Given the description of an element on the screen output the (x, y) to click on. 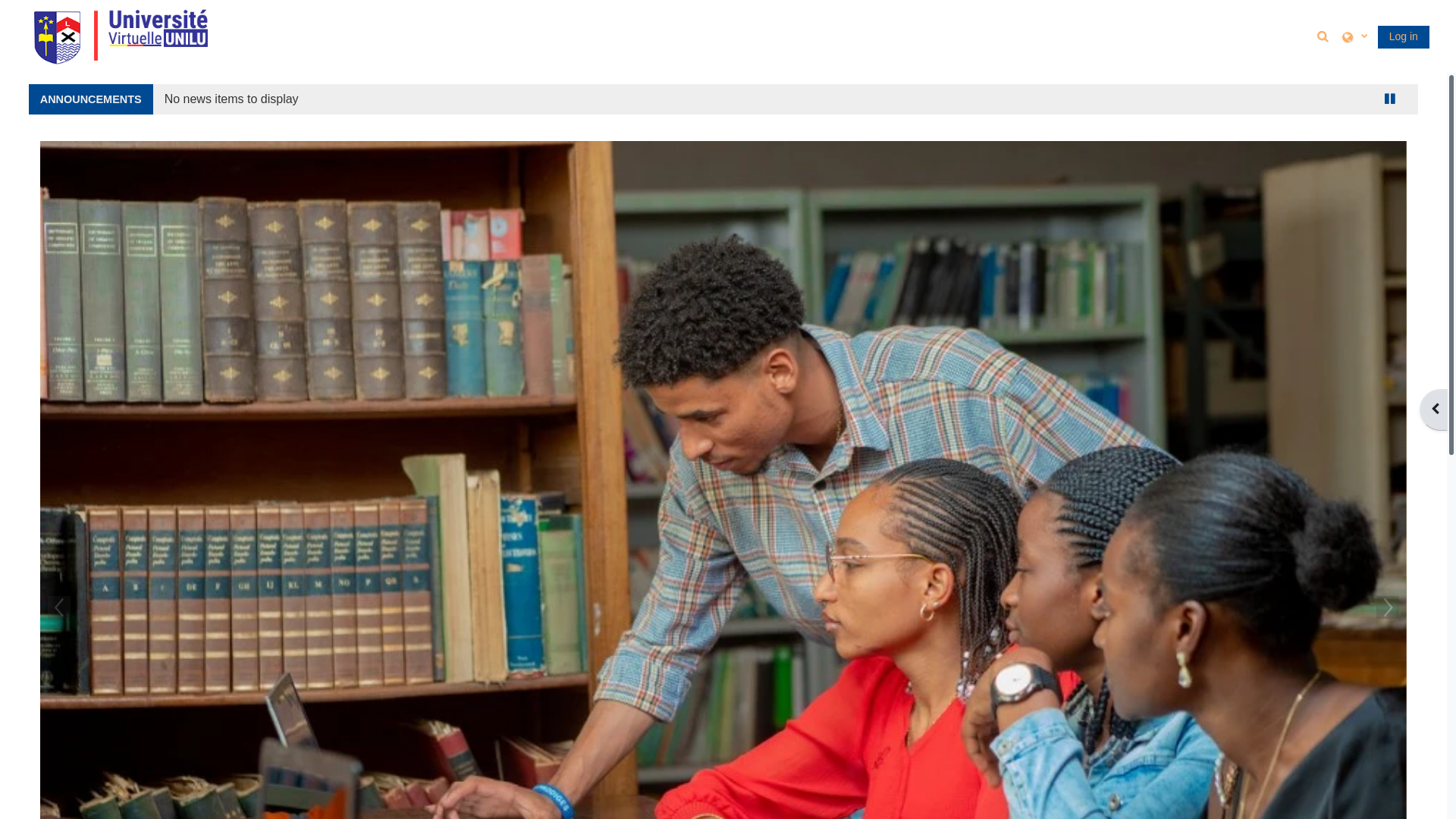
Next Element type: text (1387, 607)
Open block drawer Element type: text (1433, 409)
Toggle search input Element type: text (1325, 36)
Previous Element type: text (58, 607)
Log in Element type: text (1403, 36)
Language Element type: hover (1354, 35)
